Given the description of an element on the screen output the (x, y) to click on. 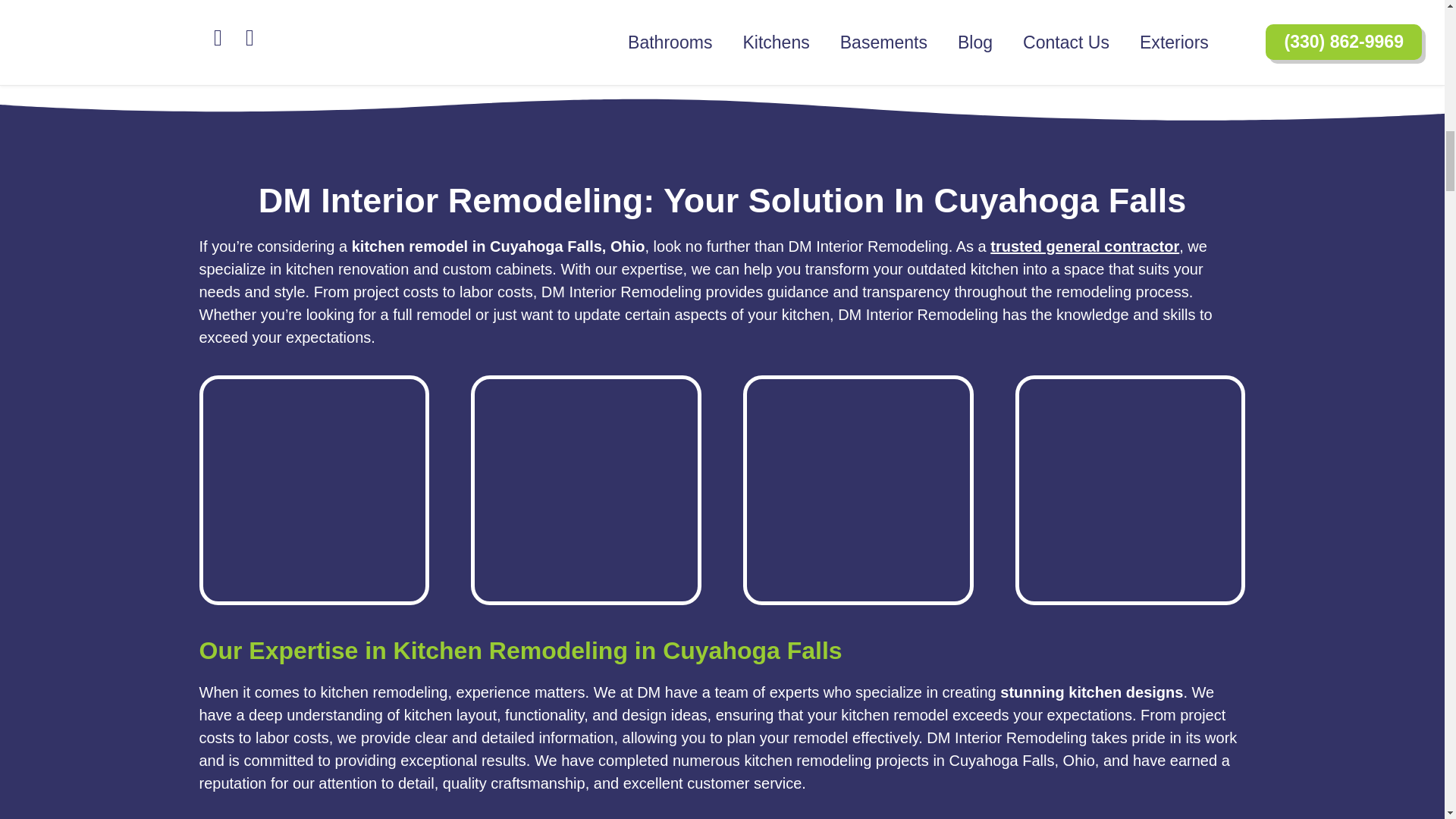
Cuyahoga Falls, OH Kitchen Remodeling 7 (1130, 488)
Cuyahoga Falls, OH Kitchen Remodeling 4 (313, 488)
Cuyahoga Falls, OH Kitchen Remodeling 5 (585, 488)
Cuyahoga Falls, OH Kitchen Remodeling 6 (858, 488)
